Given the description of an element on the screen output the (x, y) to click on. 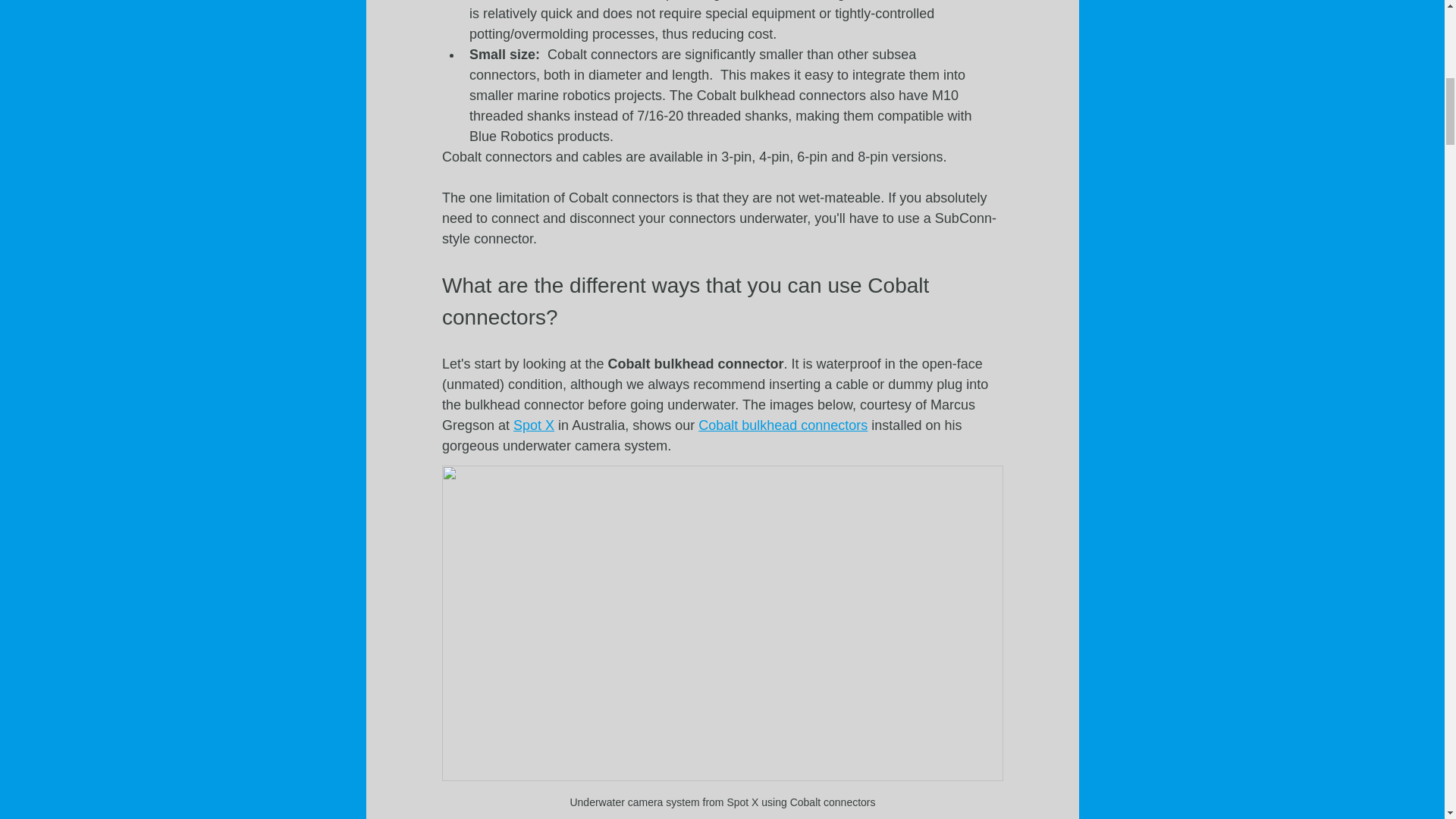
Spot X (533, 425)
Cobalt bulkhead connectors (782, 425)
